Given the description of an element on the screen output the (x, y) to click on. 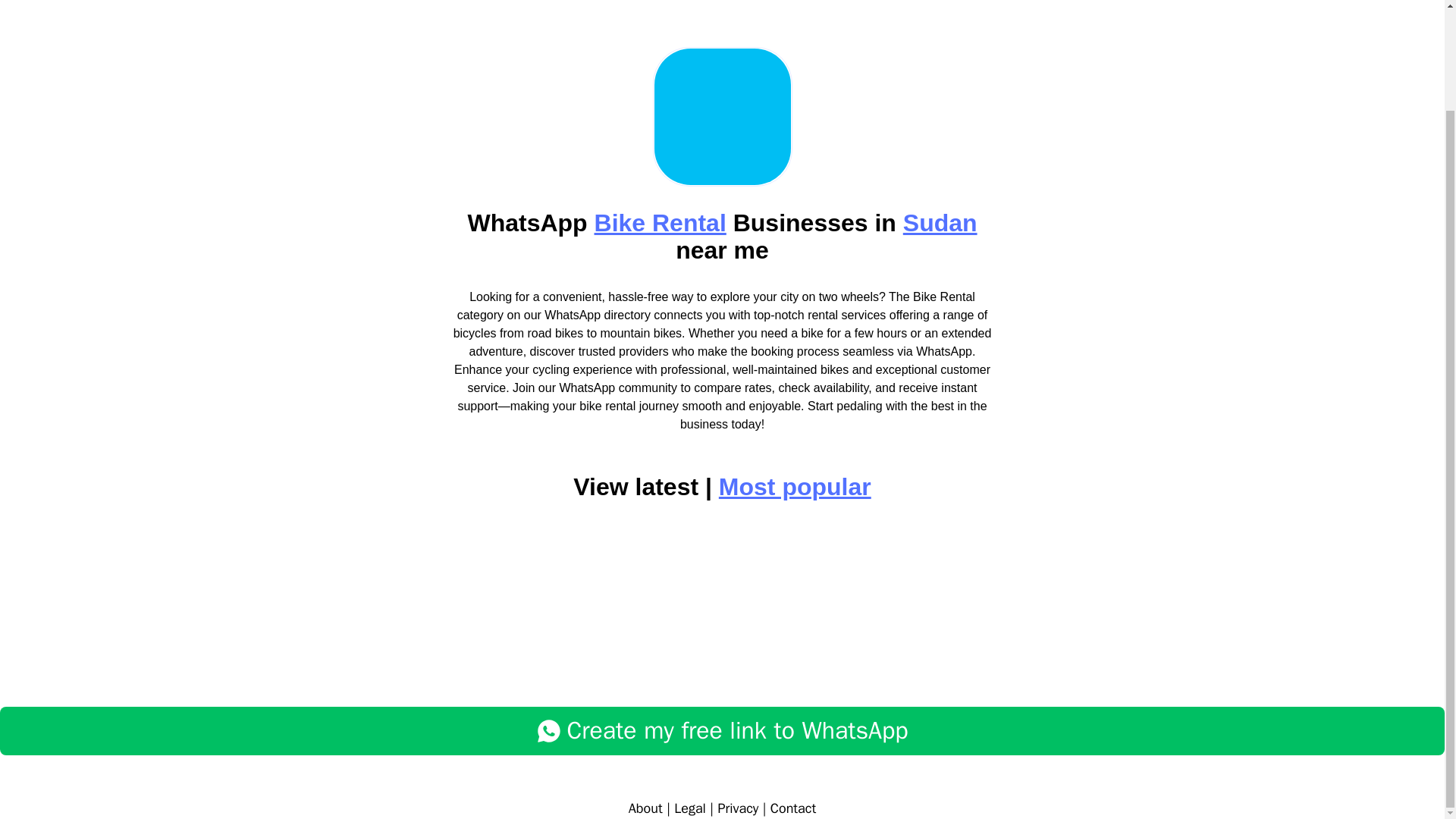
Sudan (939, 222)
Bike Rental (660, 222)
About (645, 808)
Most popular (794, 486)
Contact (792, 808)
Privacy (737, 808)
Legal (690, 808)
